Given the description of an element on the screen output the (x, y) to click on. 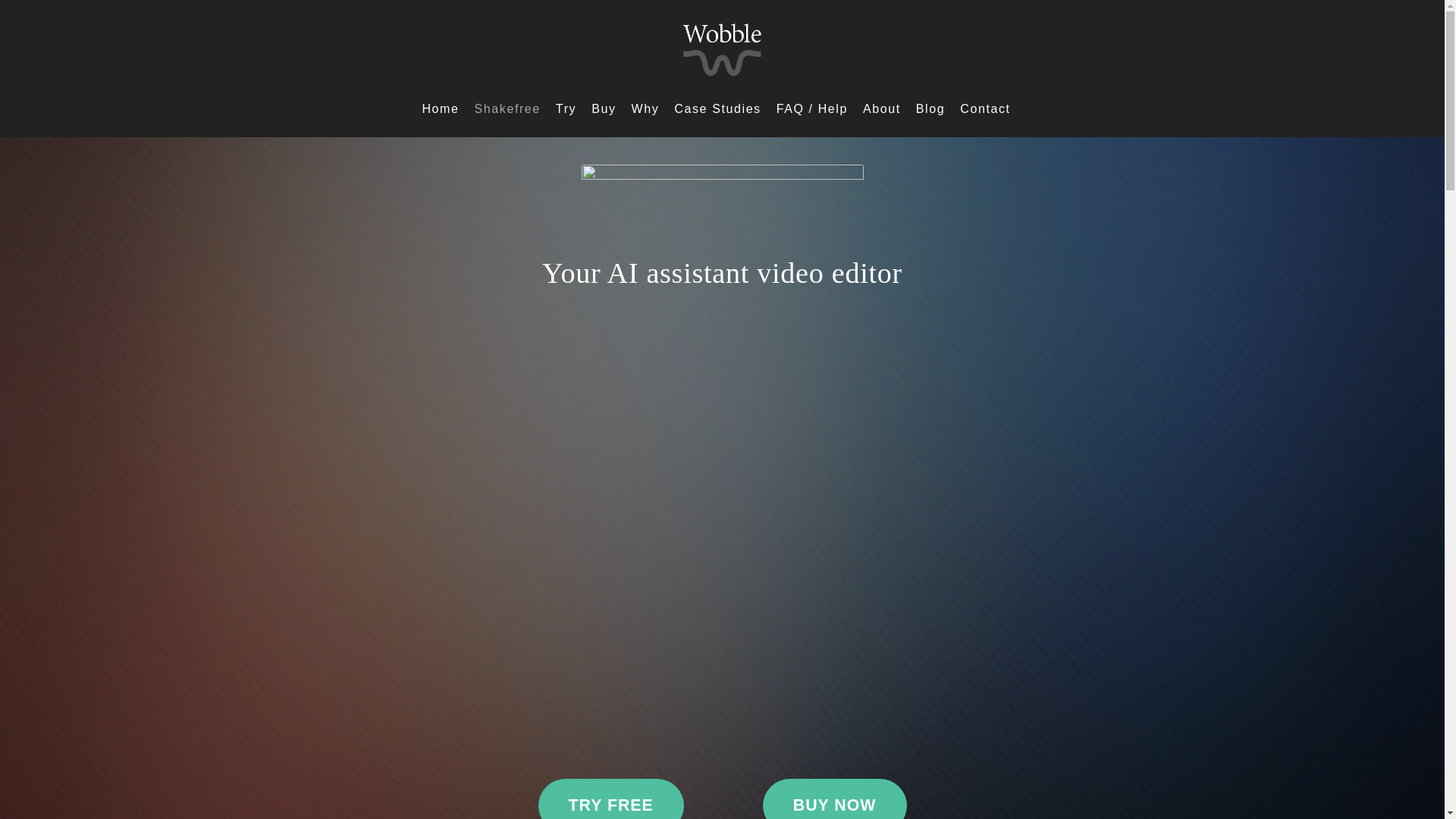
Blog (930, 109)
Contact (984, 109)
Home (440, 109)
TRY FREE (611, 798)
Why (645, 109)
BUY NOW (834, 798)
About (881, 109)
Shakefree (507, 109)
Buy (604, 109)
Case Studies (716, 109)
